Given the description of an element on the screen output the (x, y) to click on. 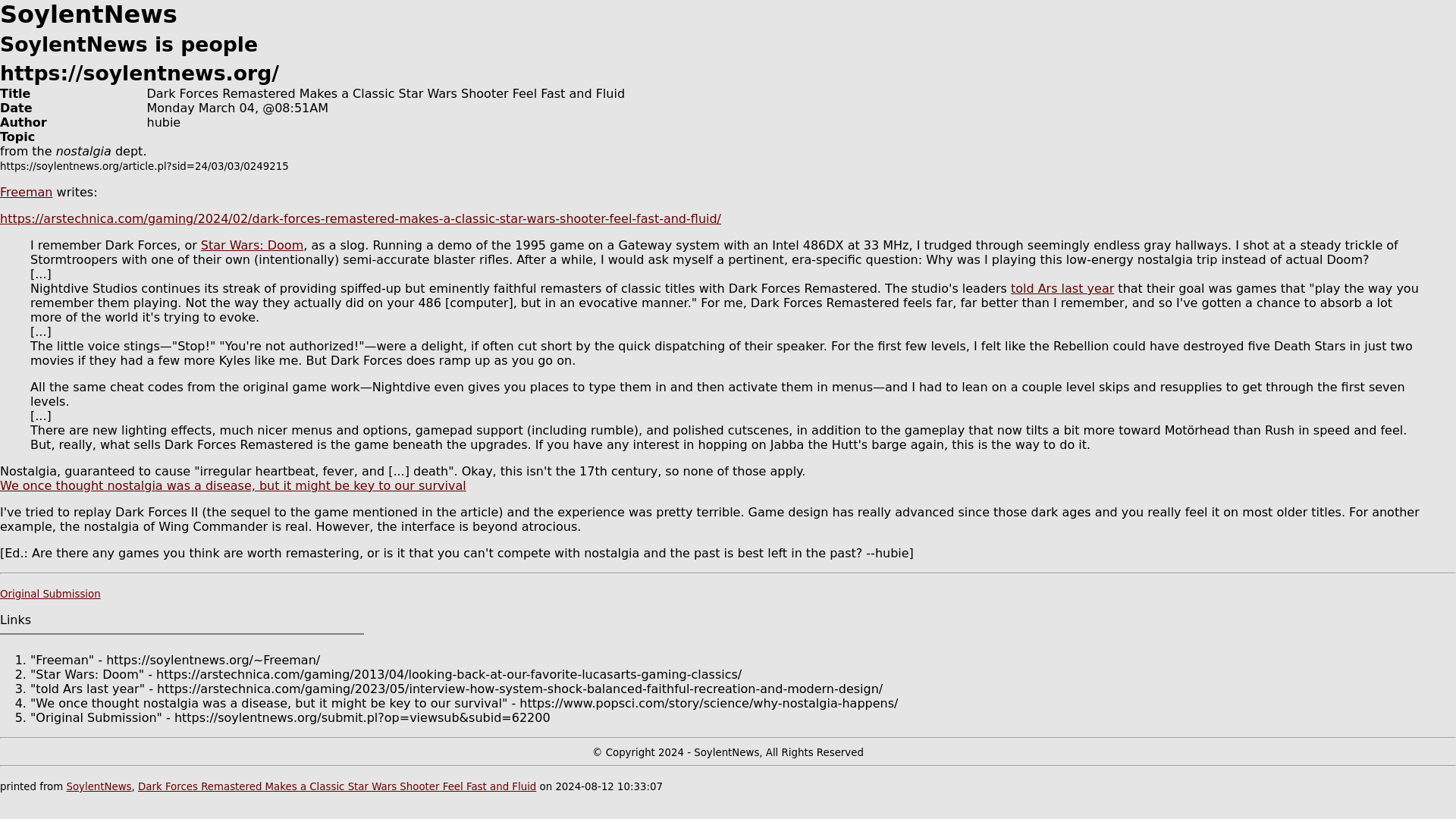
Original Submission (50, 593)
told Ars last year (1061, 288)
Freeman (26, 192)
Star Wars: Doom (251, 245)
SoylentNews (98, 786)
